Given the description of an element on the screen output the (x, y) to click on. 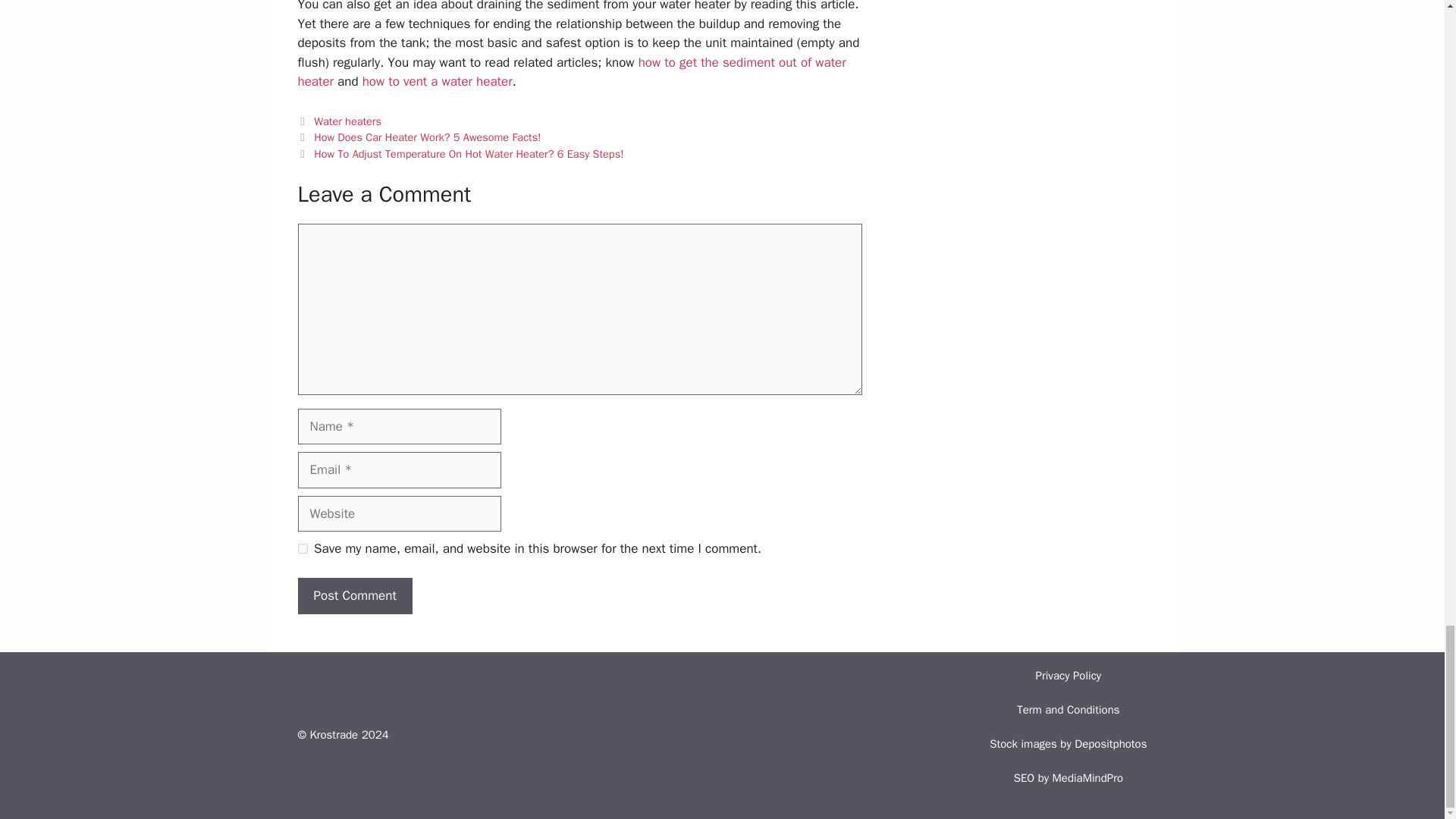
yes (302, 548)
Post Comment (354, 596)
